Given the description of an element on the screen output the (x, y) to click on. 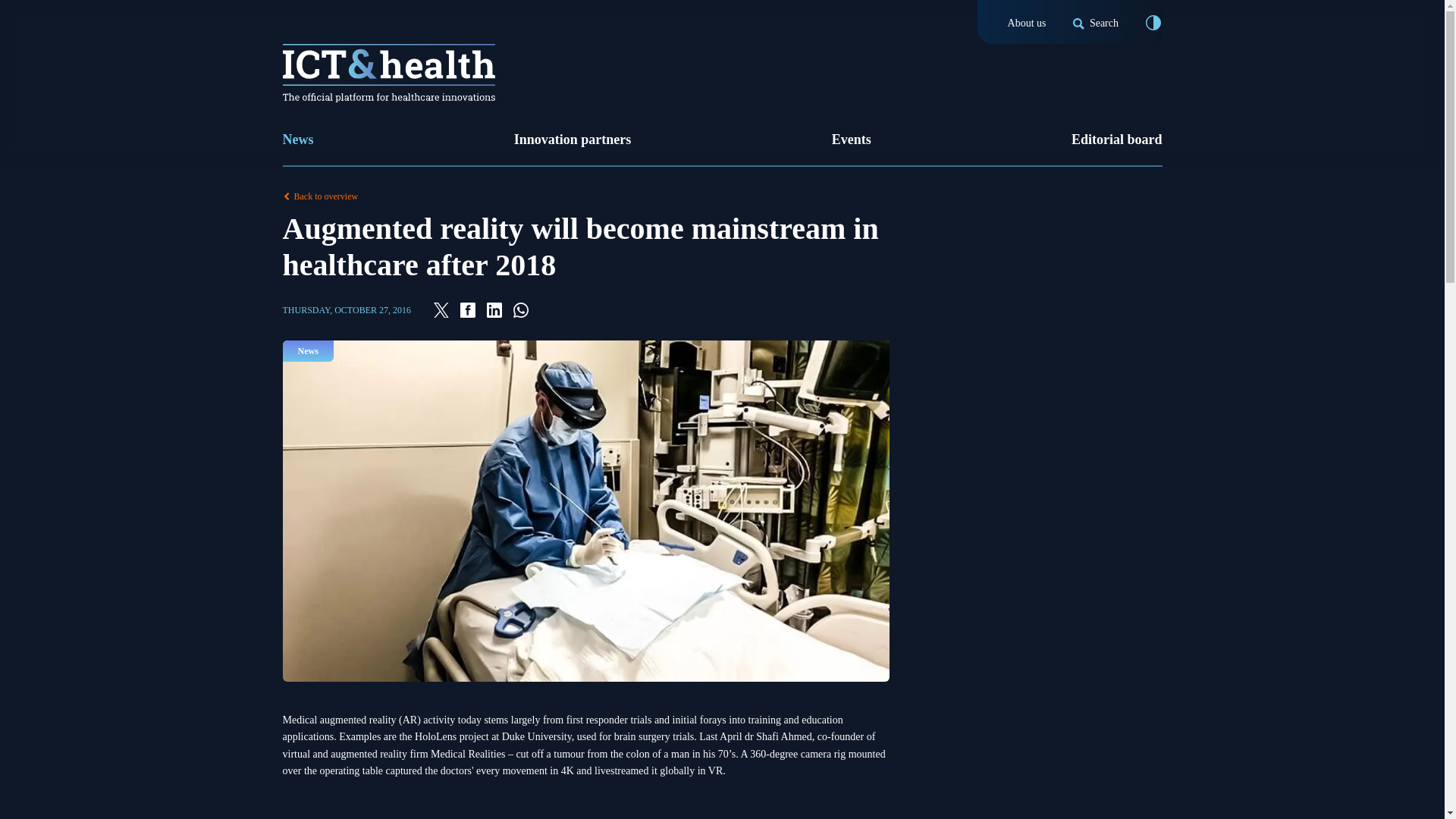
Innovation partners (572, 139)
Go to News (297, 139)
Events (850, 139)
Go to Innovation partners (572, 139)
News (297, 139)
Editorial board (1116, 139)
Go to Editorial board (1116, 139)
About us (1026, 22)
Back to overview (721, 196)
Go to Events (850, 139)
